Given the description of an element on the screen output the (x, y) to click on. 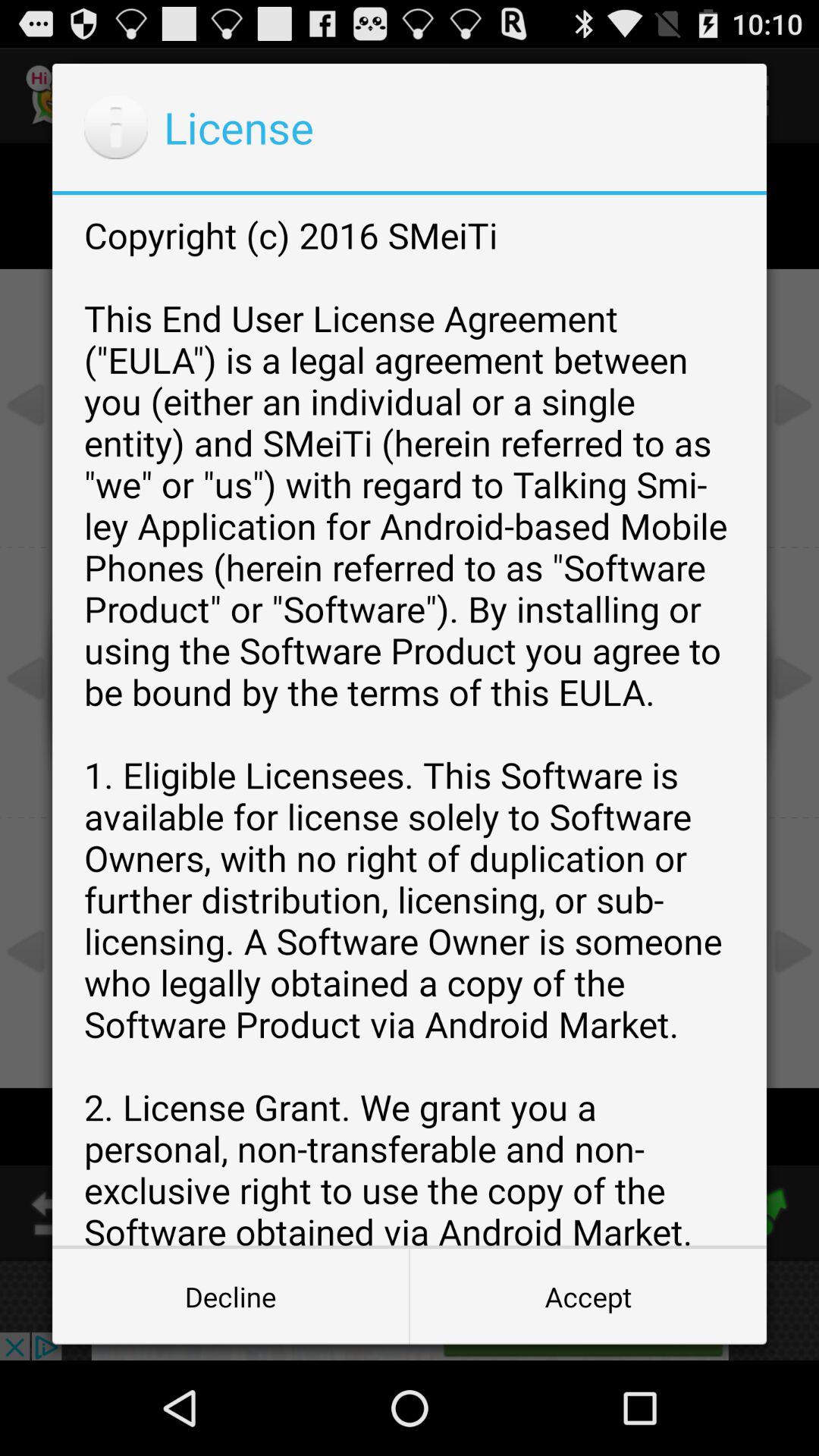
open the icon at the bottom left corner (230, 1296)
